Given the description of an element on the screen output the (x, y) to click on. 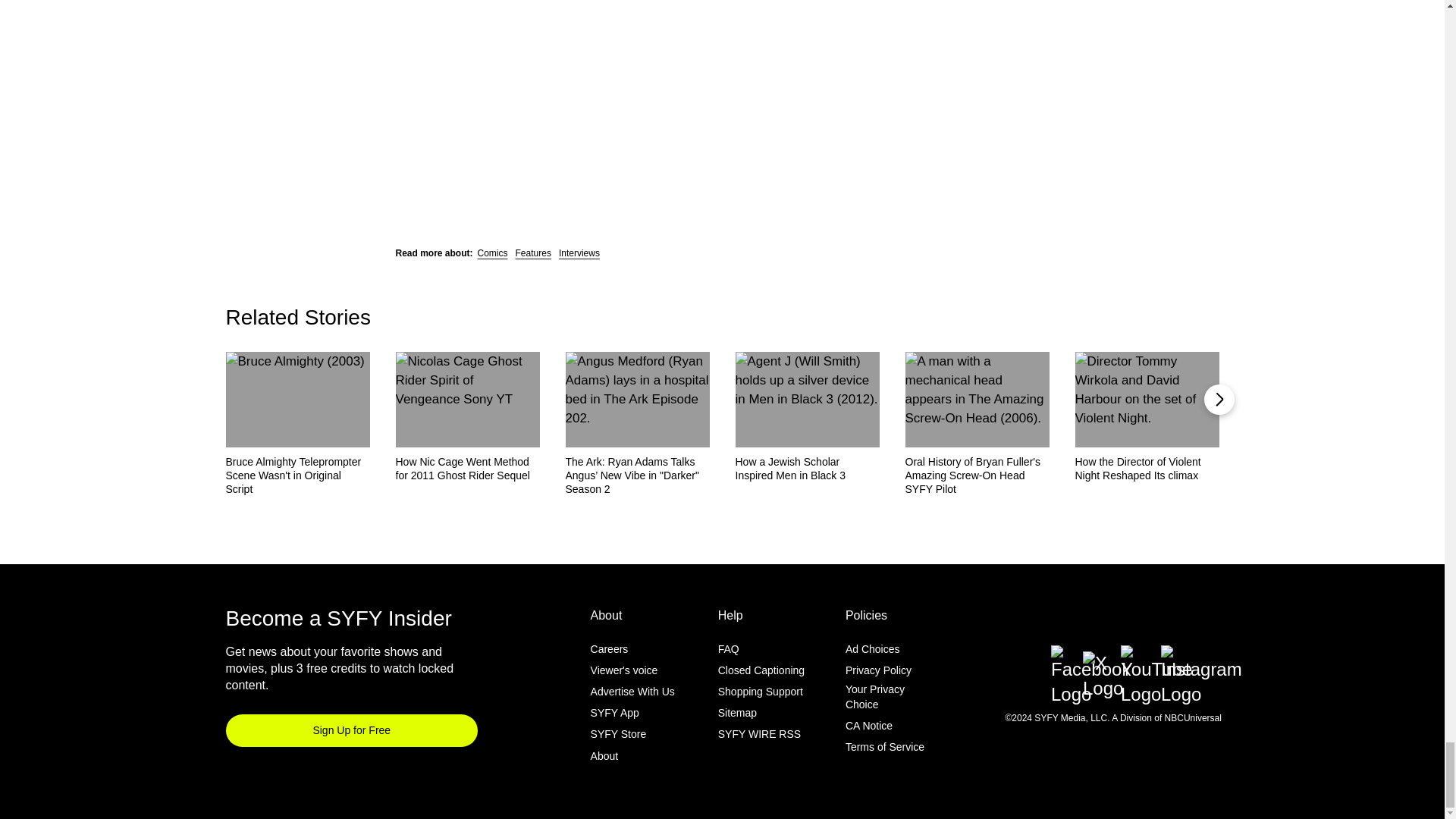
Advertise With Us (633, 692)
